Given the description of an element on the screen output the (x, y) to click on. 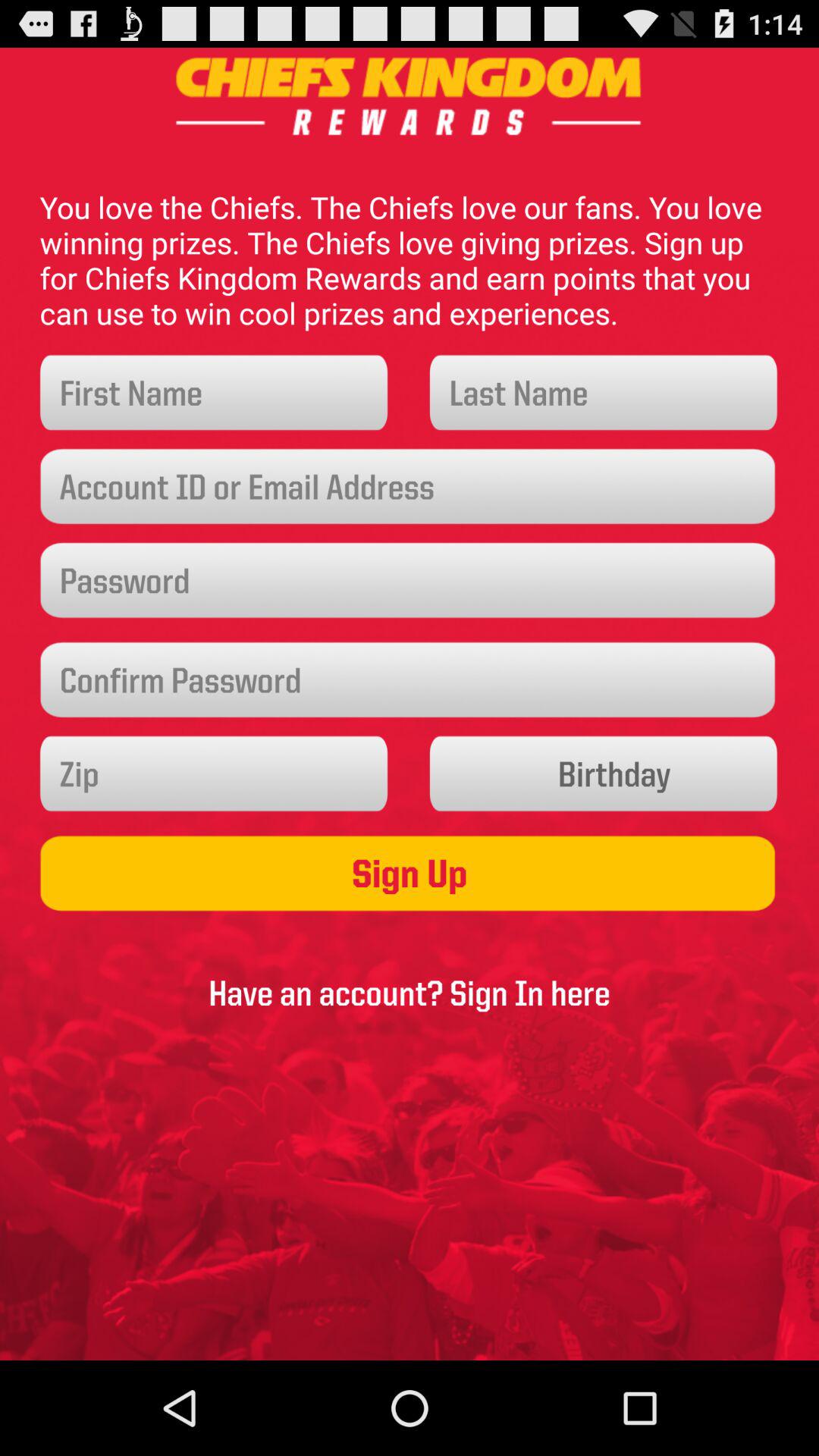
password entry (409, 680)
